Given the description of an element on the screen output the (x, y) to click on. 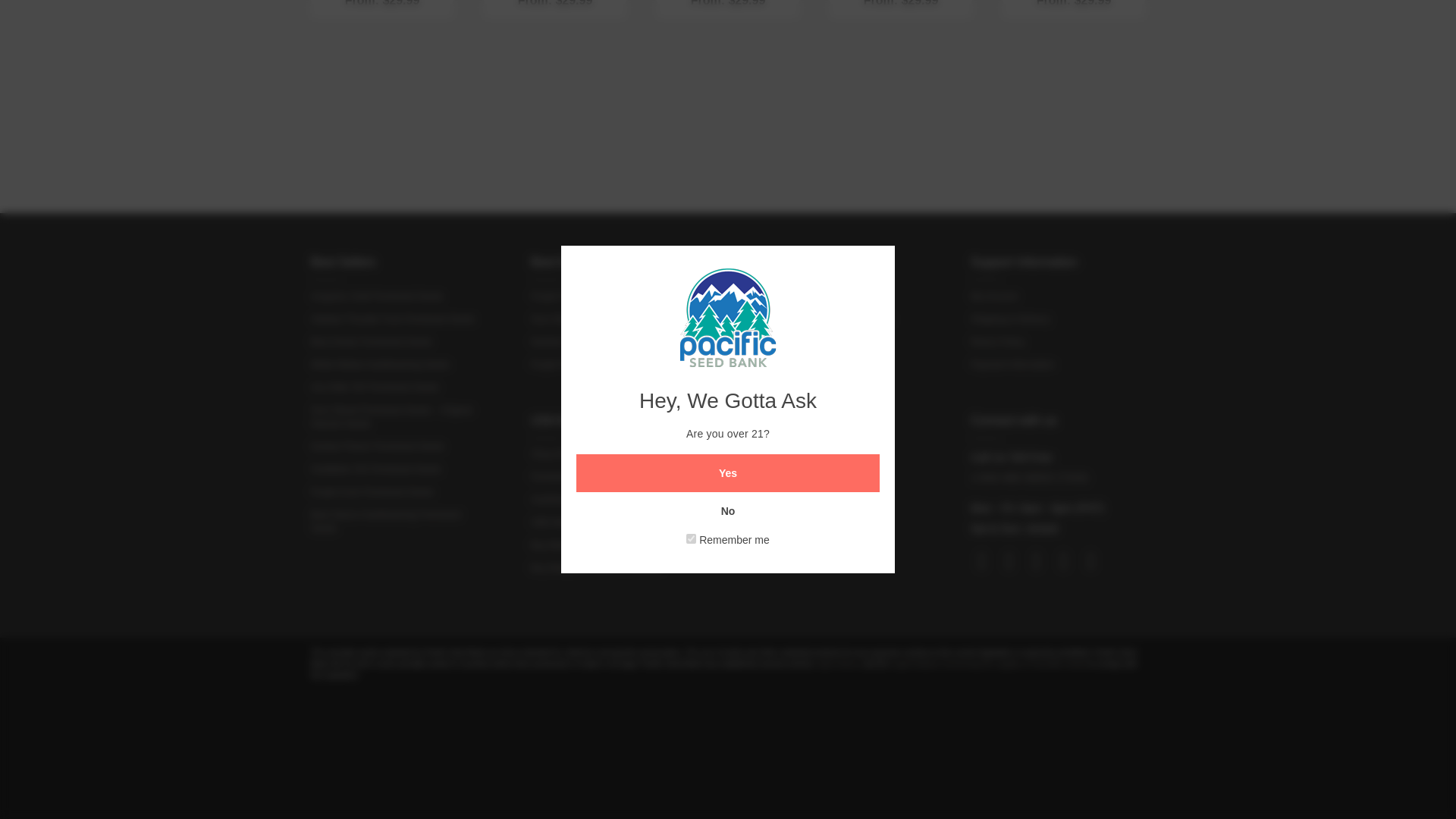
White Widow Autoflowering Seeds (381, 63)
9 Pound Hammer Autoflowering Seeds (555, 63)
Jack Herer Autoflowering Feminized Seeds (727, 63)
Blue Dream Autoflowering Feminized Seeds (900, 63)
